Given the description of an element on the screen output the (x, y) to click on. 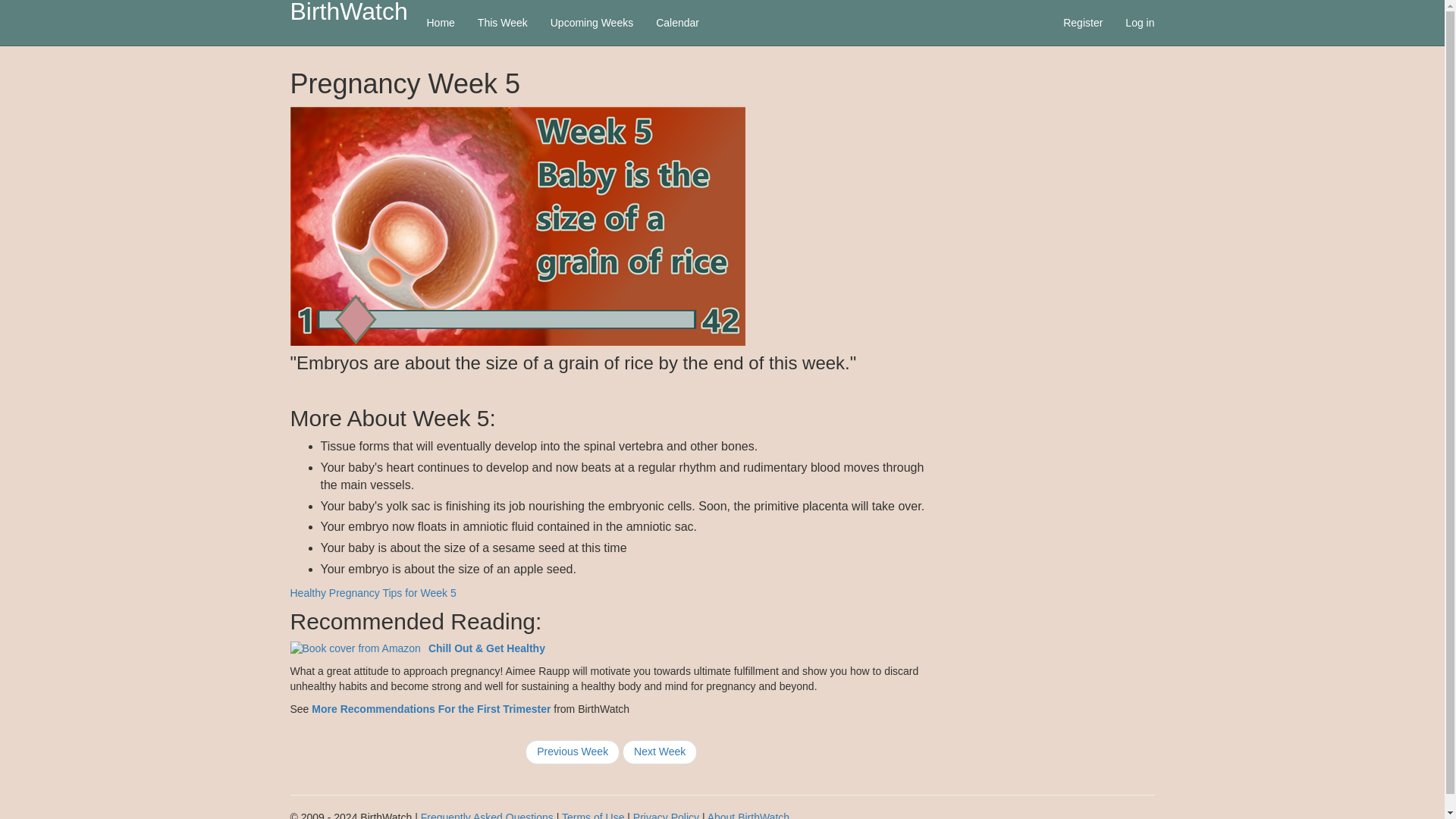
Terms of Use (593, 815)
Previous Week (572, 752)
About BirthWatch (748, 815)
Log in (1139, 22)
Healthy Pregnancy Tips for Week 5 (372, 592)
Home (439, 22)
Next Week (660, 752)
Upcoming Weeks (591, 22)
Calendar (677, 22)
Privacy Policy (665, 815)
More Recommendations For the First Trimester (430, 708)
Register (1082, 22)
This Week (501, 22)
BirthWatch (346, 12)
Frequently Asked Questions (486, 815)
